Given the description of an element on the screen output the (x, y) to click on. 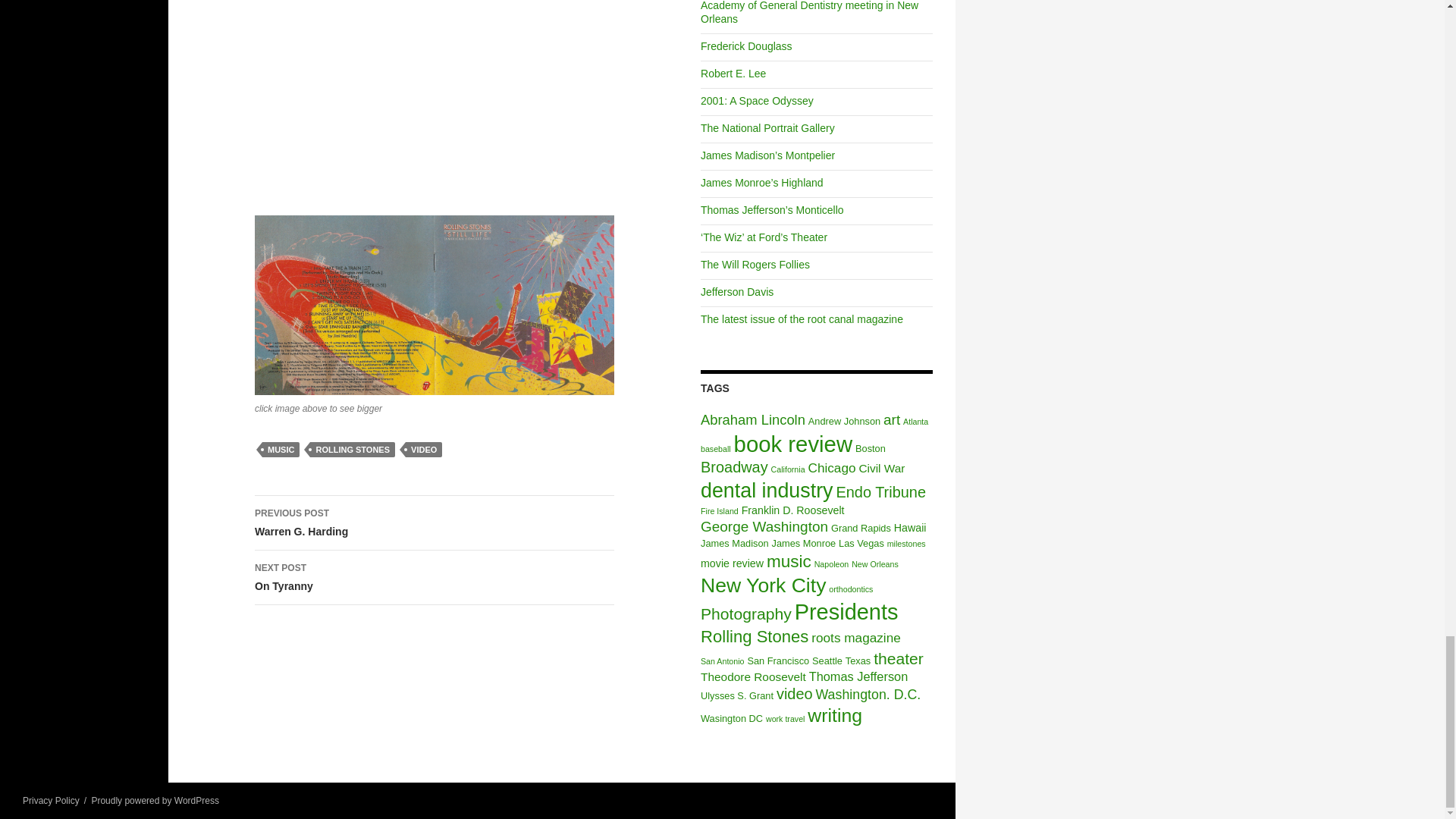
MUSIC (280, 449)
VIDEO (434, 577)
ROLLING STONES (424, 449)
